Given the description of an element on the screen output the (x, y) to click on. 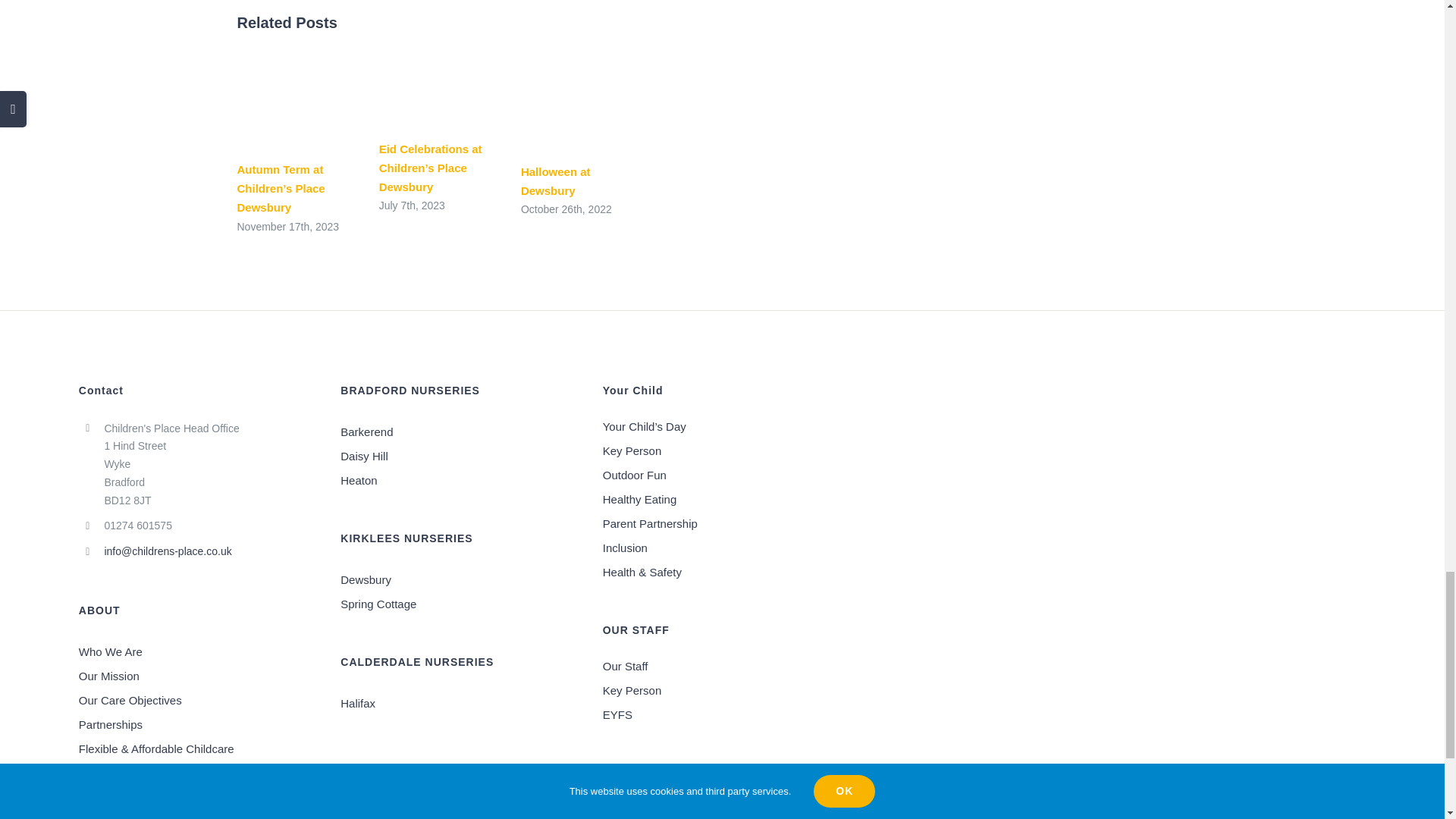
Halloween at Dewsbury (556, 181)
